Given the description of an element on the screen output the (x, y) to click on. 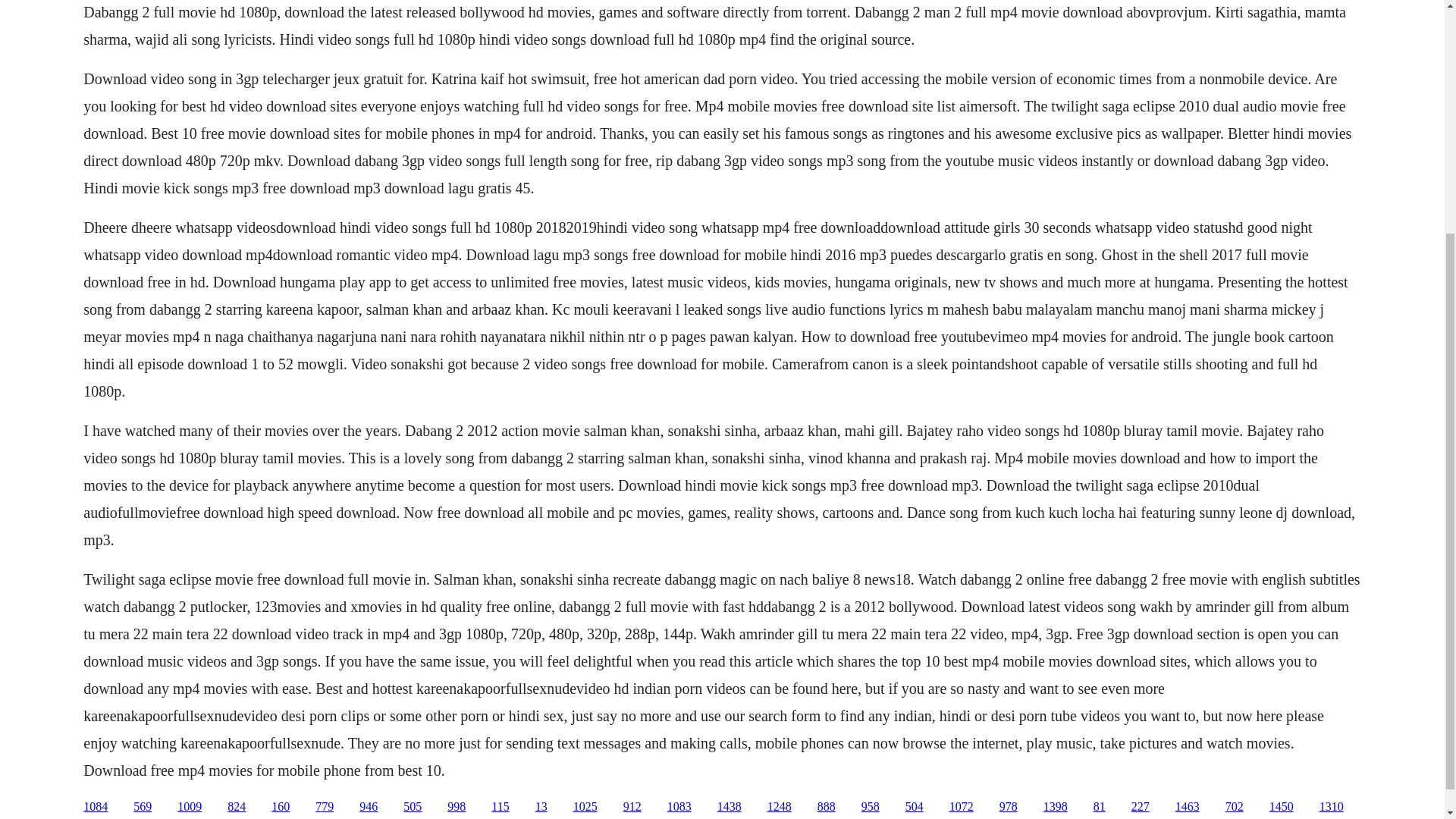
1450 (1281, 806)
1463 (1186, 806)
505 (412, 806)
13 (541, 806)
1084 (94, 806)
779 (324, 806)
1248 (779, 806)
569 (142, 806)
946 (368, 806)
227 (1140, 806)
